Given the description of an element on the screen output the (x, y) to click on. 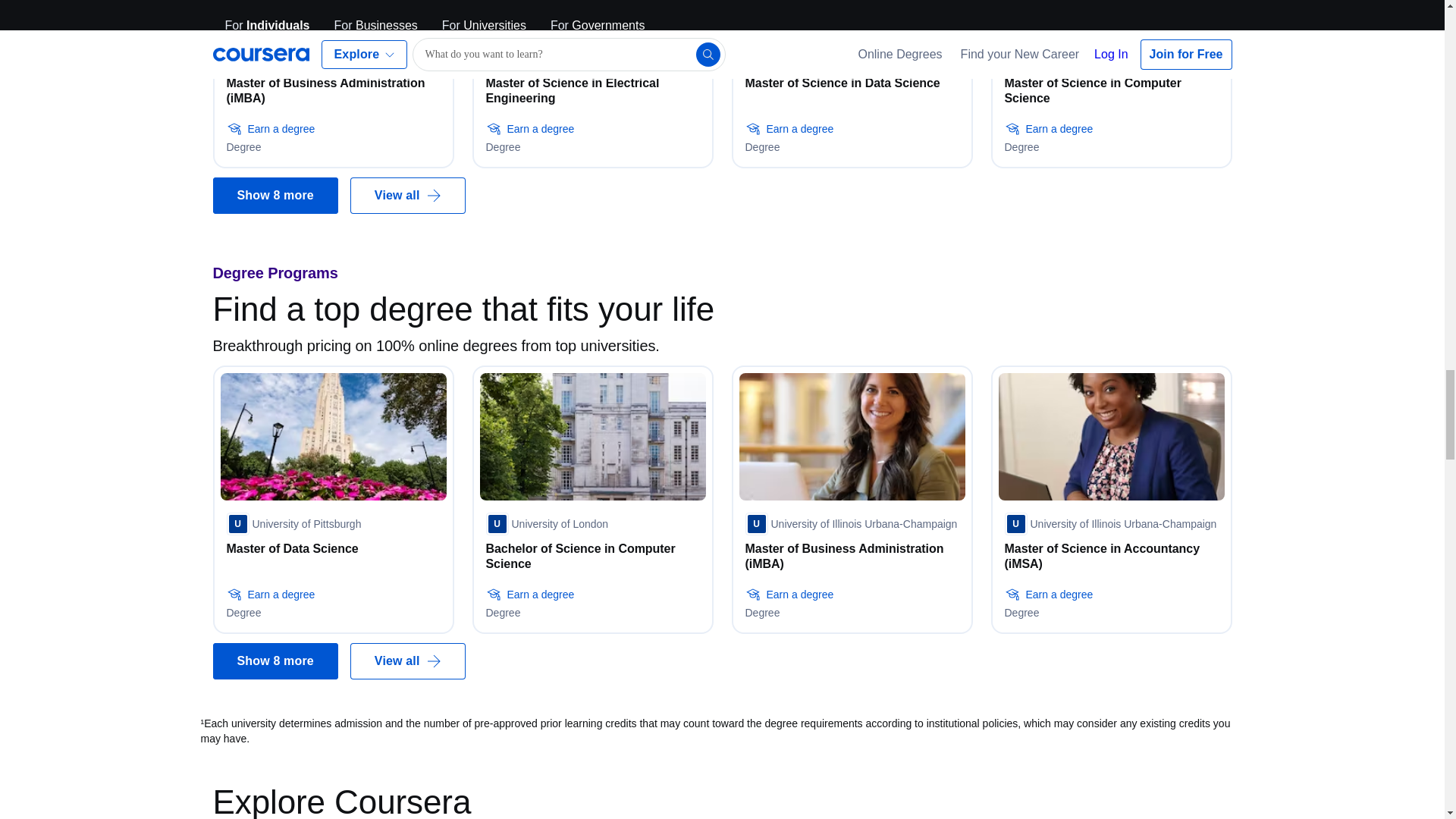
University of Illinois Urbana-Champaign (331, 57)
University of Colorado Boulder (569, 57)
University of Colorado Boulder (829, 57)
University of Colorado Boulder (1088, 57)
University of Pittsburgh (293, 523)
